Given the description of an element on the screen output the (x, y) to click on. 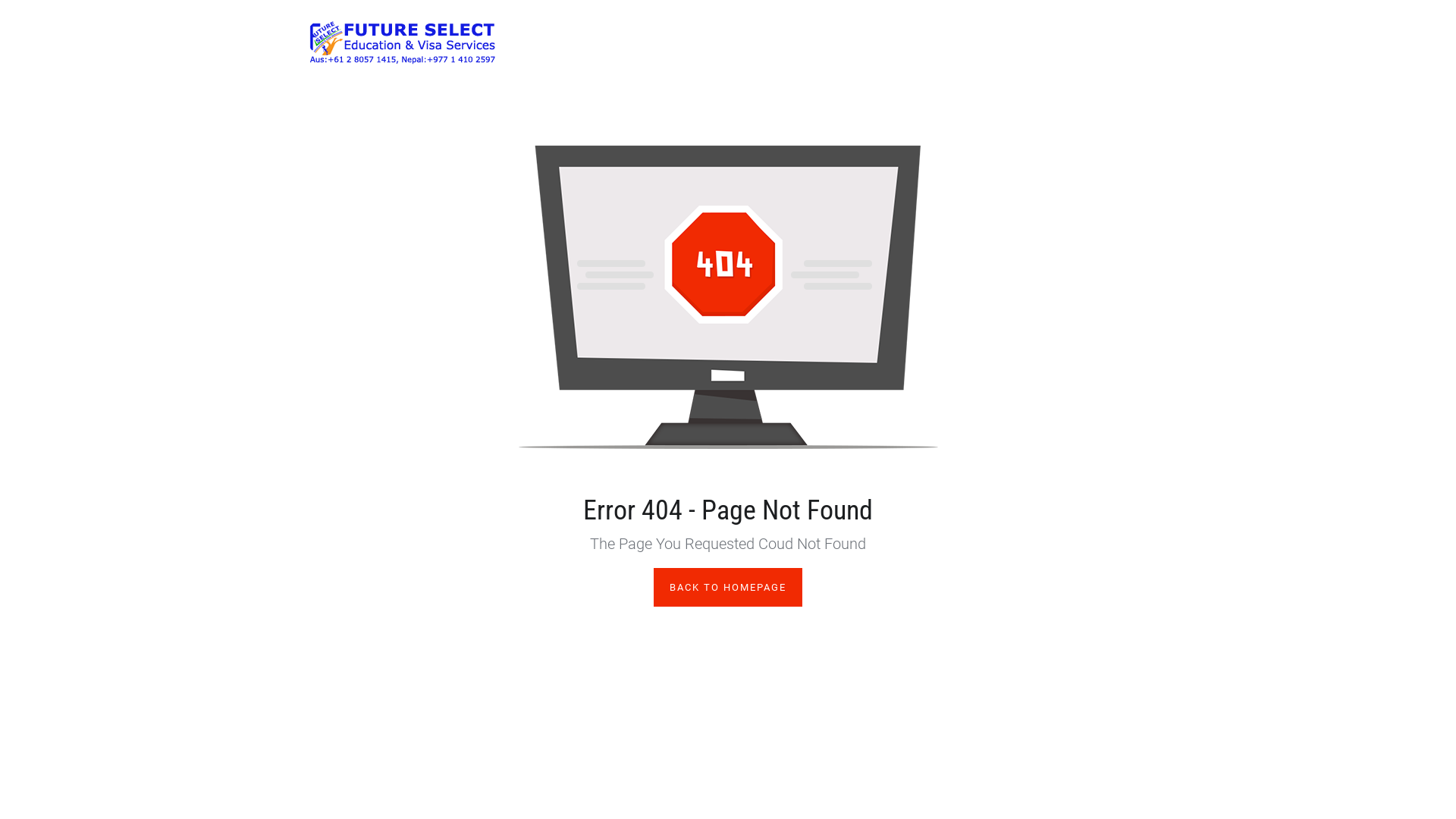
BACK TO HOMEPAGE Element type: text (727, 586)
